Given the description of an element on the screen output the (x, y) to click on. 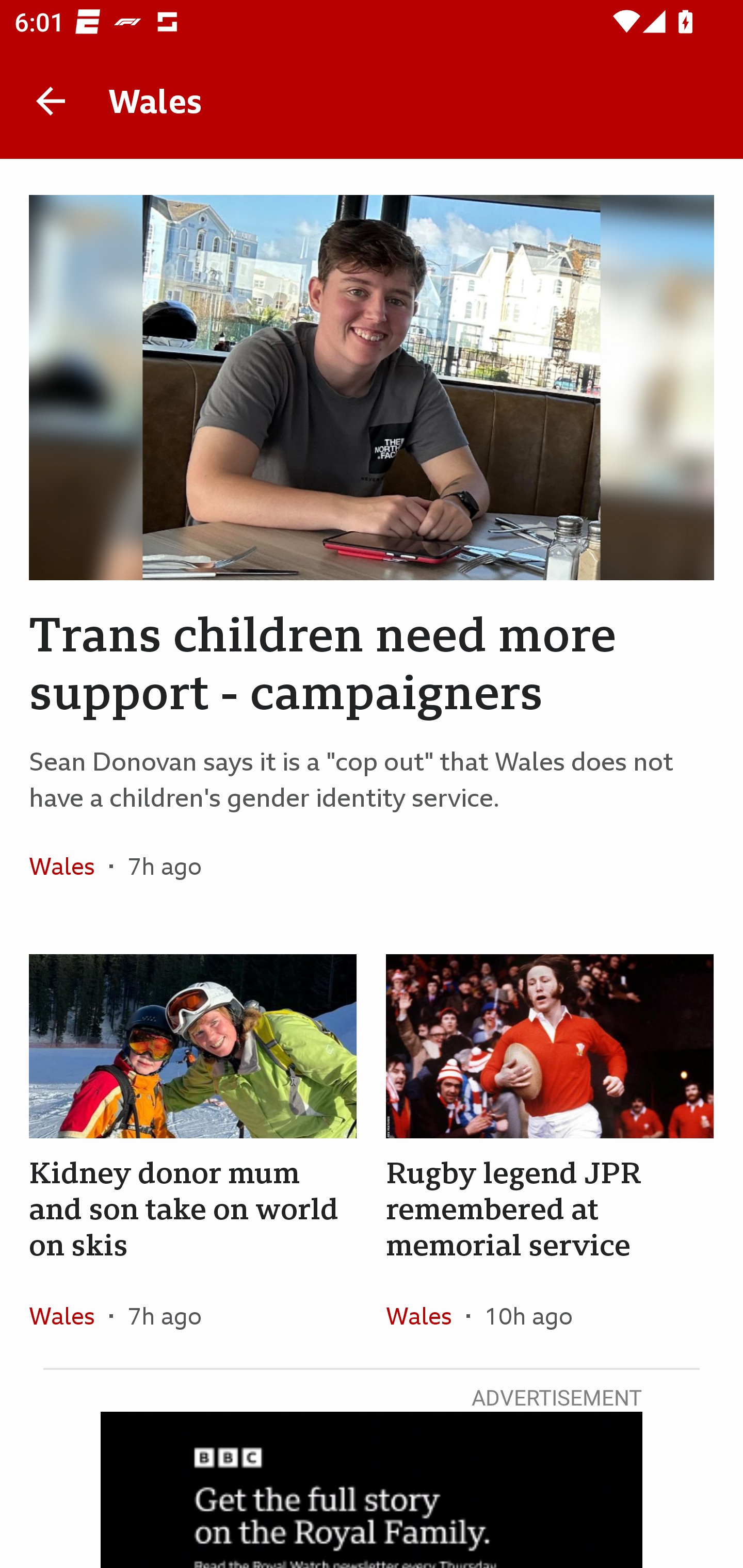
Back (50, 101)
Wales In the section Wales (68, 865)
Wales In the section Wales (68, 1315)
Wales In the section Wales (425, 1315)
